Given the description of an element on the screen output the (x, y) to click on. 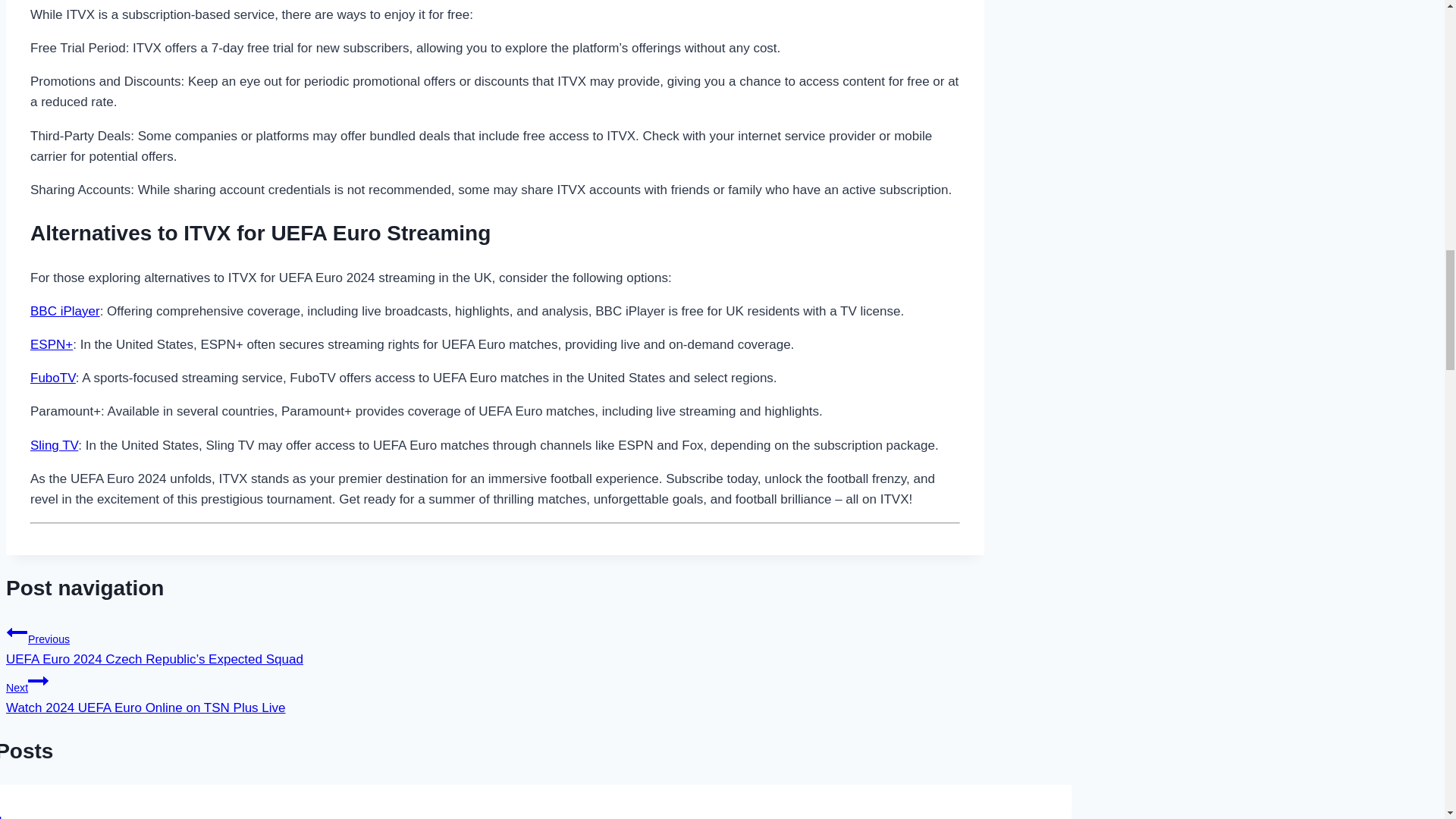
FuboTV (52, 377)
BBC iPlayer (65, 310)
Sling TV (494, 692)
Continue (54, 445)
Previous (37, 680)
